Given the description of an element on the screen output the (x, y) to click on. 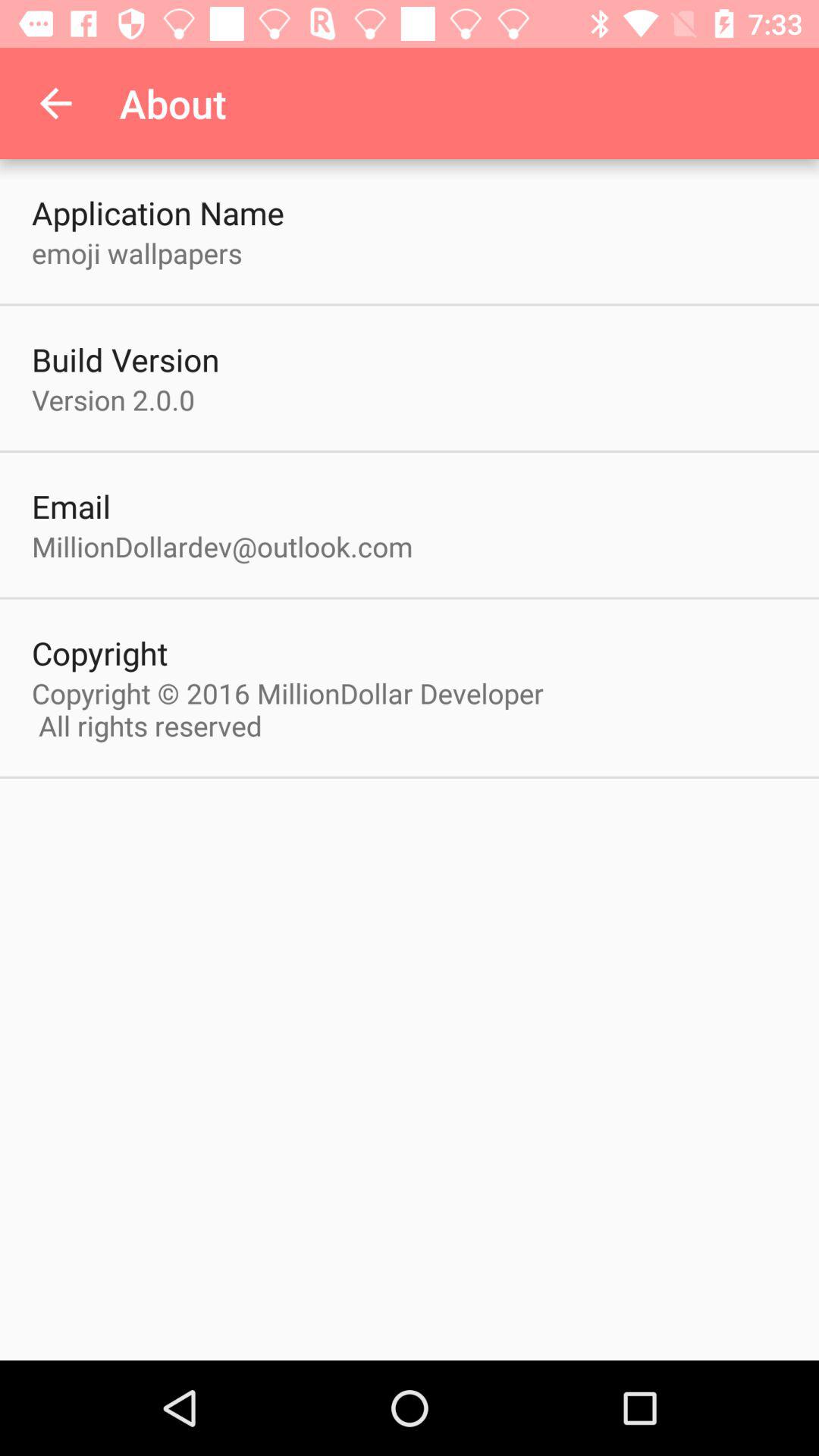
launch the item above milliondollardev@outlook.com item (70, 505)
